Given the description of an element on the screen output the (x, y) to click on. 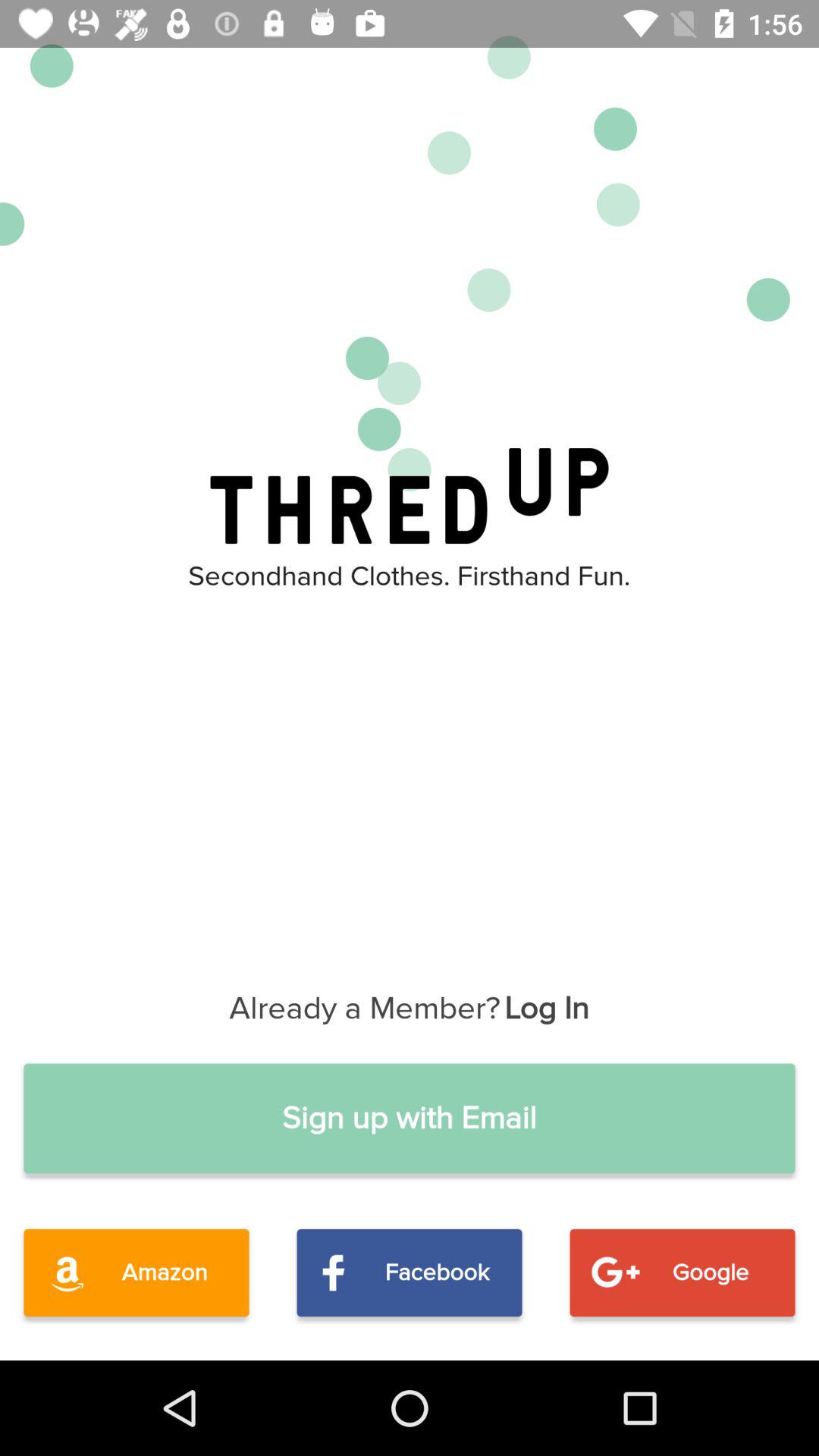
turn off icon below sign up with item (409, 1272)
